Given the description of an element on the screen output the (x, y) to click on. 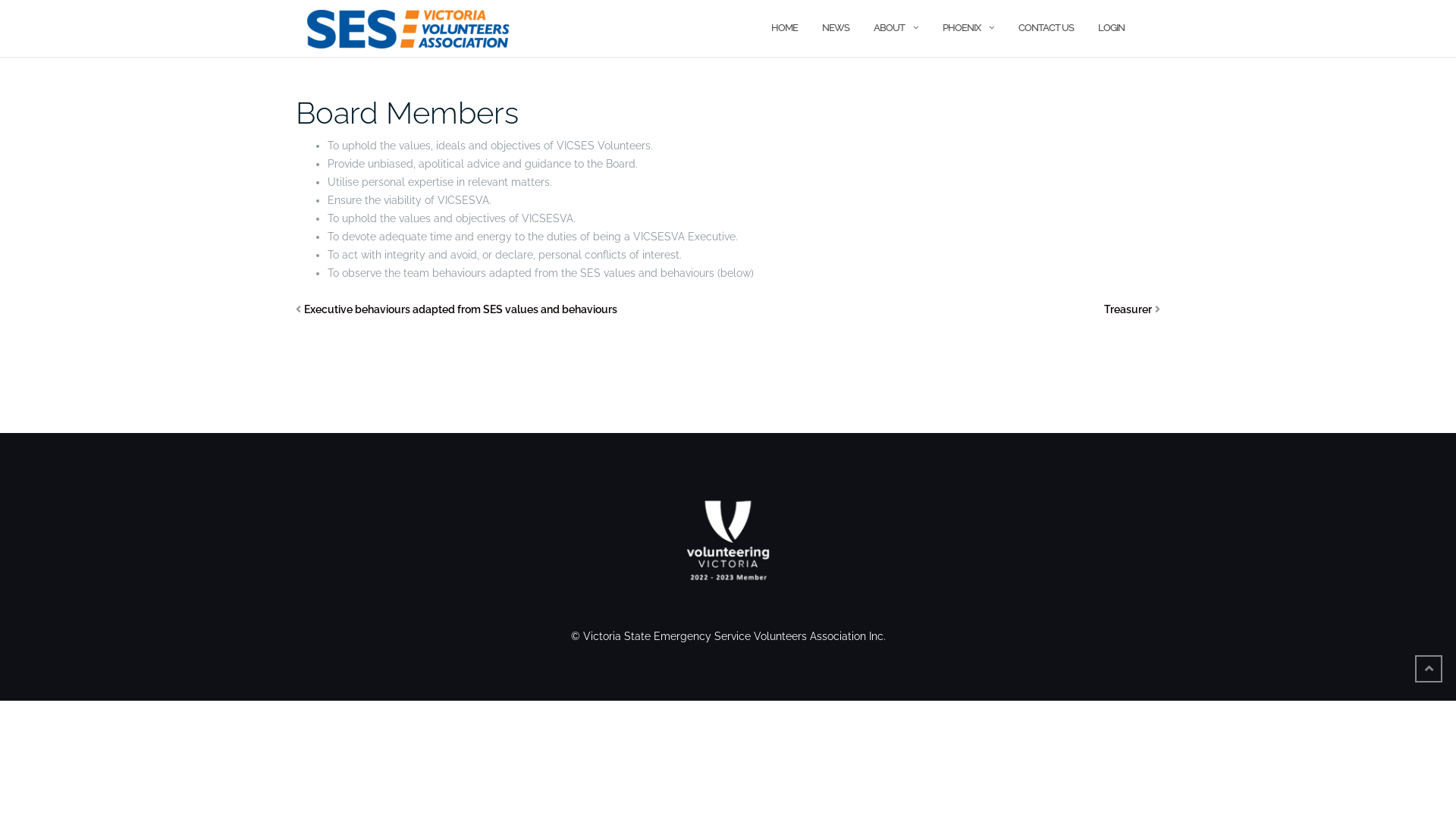
CONTACT US Element type: text (1045, 28)
PHOENIX Element type: text (961, 28)
Treasurer Element type: text (1127, 309)
Executive behaviours adapted from SES values and behaviours Element type: text (460, 309)
NEWS Element type: text (835, 28)
ABOUT Element type: text (888, 28)
HOME Element type: text (784, 28)
Board Members Element type: text (406, 112)
LOGIN Element type: text (1111, 28)
